Given the description of an element on the screen output the (x, y) to click on. 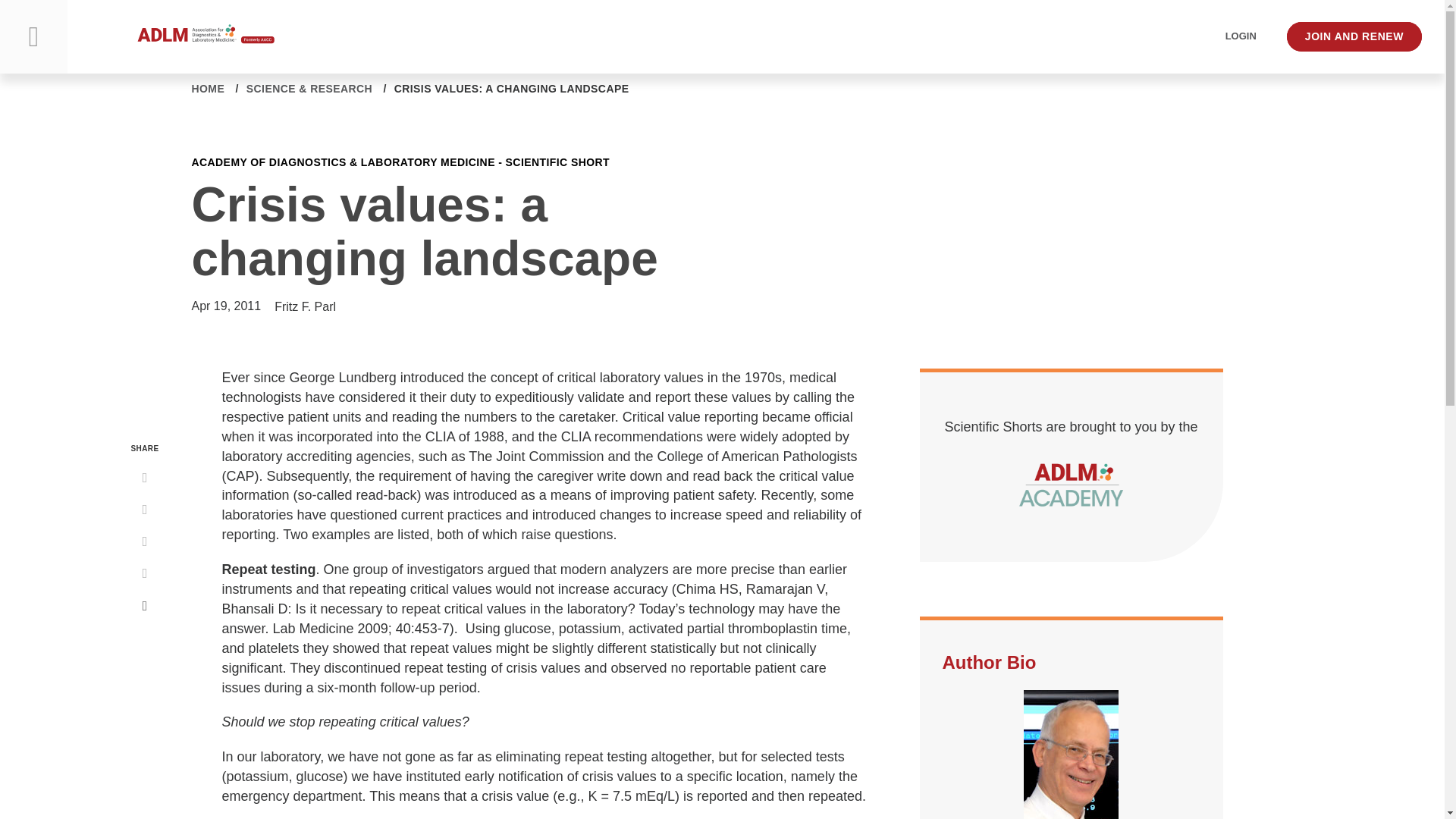
JOIN AND RENEW (1354, 37)
LOGIN (1240, 36)
Skip to main content (13, 13)
